Given the description of an element on the screen output the (x, y) to click on. 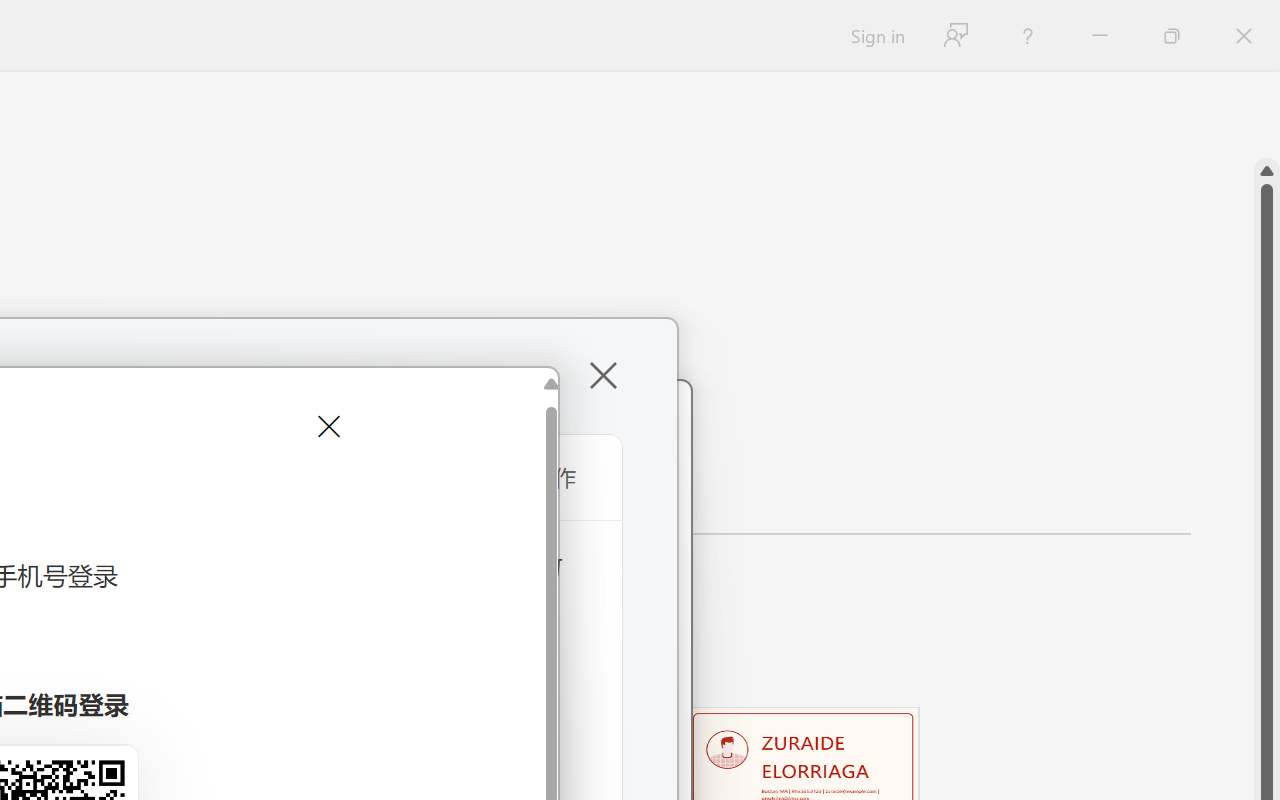
Cancel (326, 425)
Line up (1267, 171)
